Given the description of an element on the screen output the (x, y) to click on. 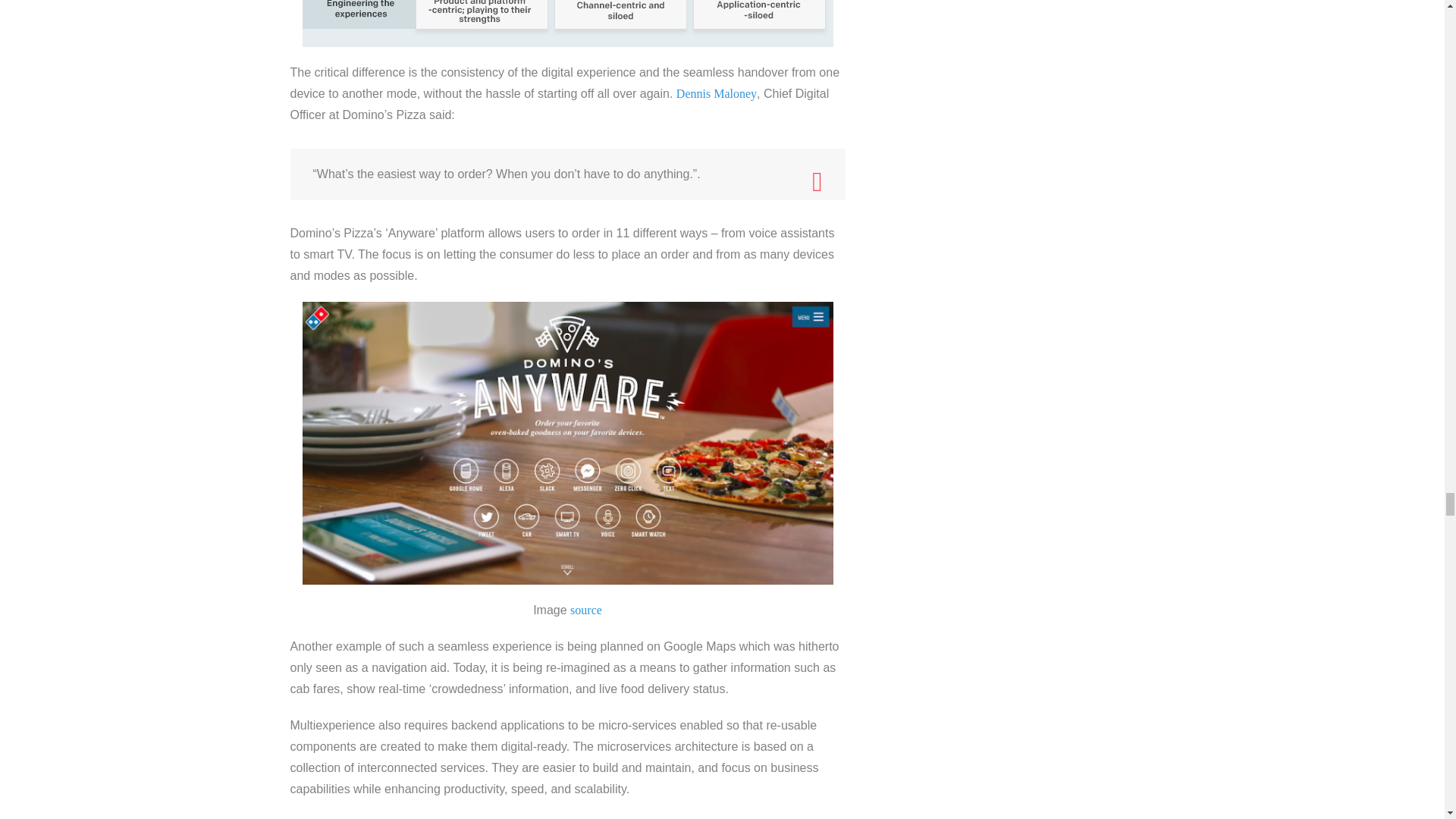
Beyond omnichannel - the multiexperience advantage (566, 23)
